Given the description of an element on the screen output the (x, y) to click on. 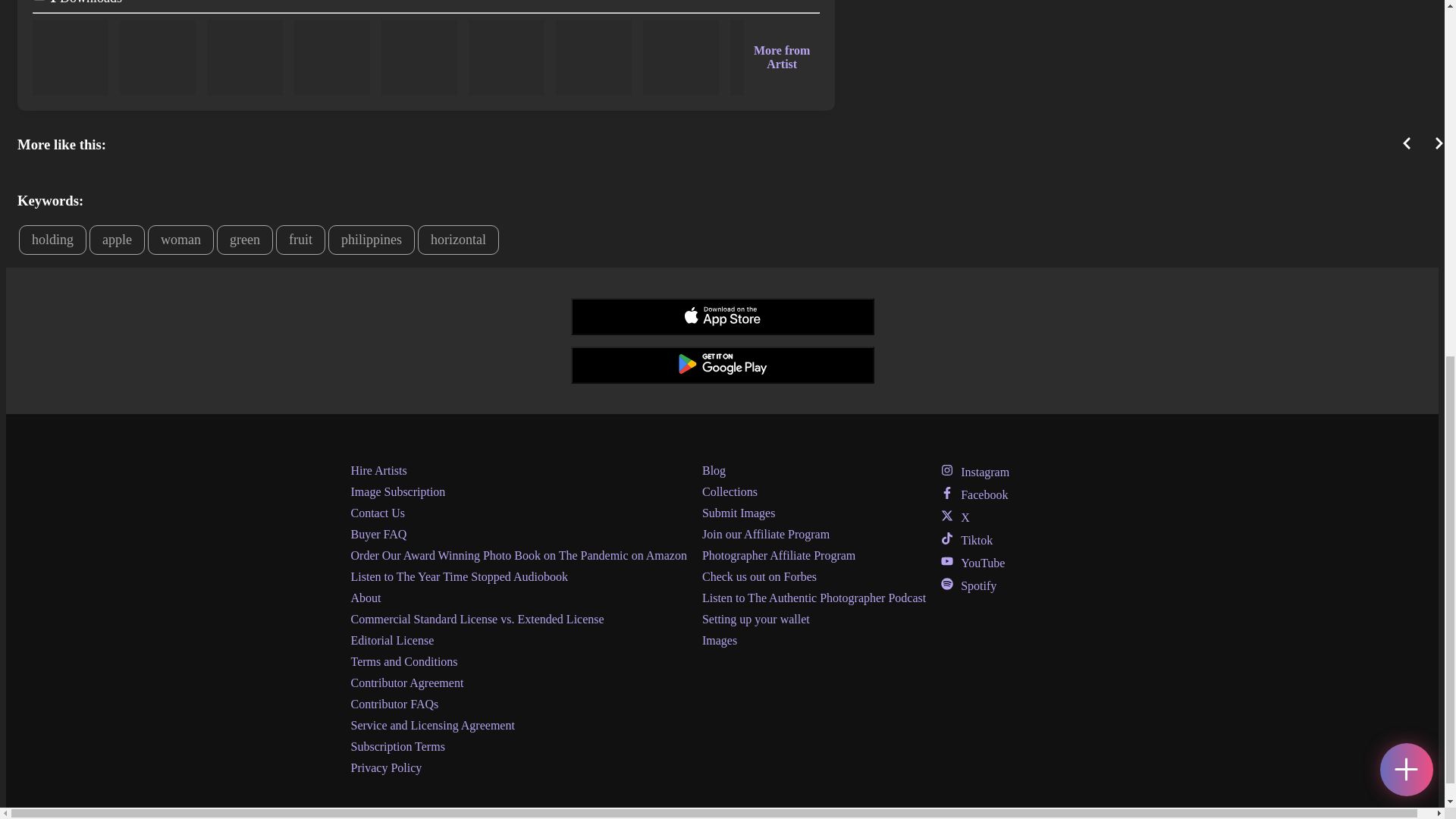
Scopio on Instagram (974, 472)
Scopio on Tiktok (966, 540)
Scopio on Facebook (973, 494)
Scopio on Spotify (967, 585)
Scopio on YouTube (972, 562)
Scopio on X (954, 517)
